Given the description of an element on the screen output the (x, y) to click on. 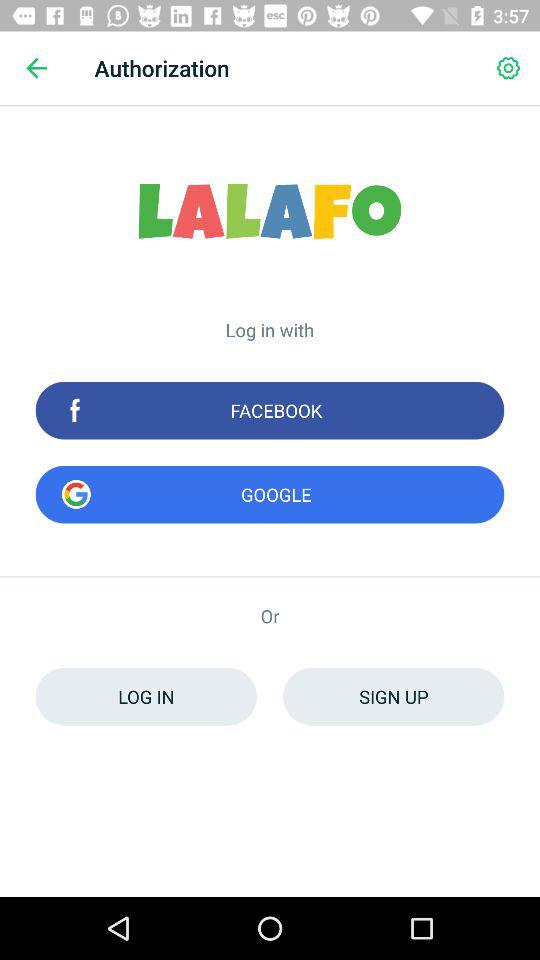
press the item to the left of authorization icon (36, 68)
